Given the description of an element on the screen output the (x, y) to click on. 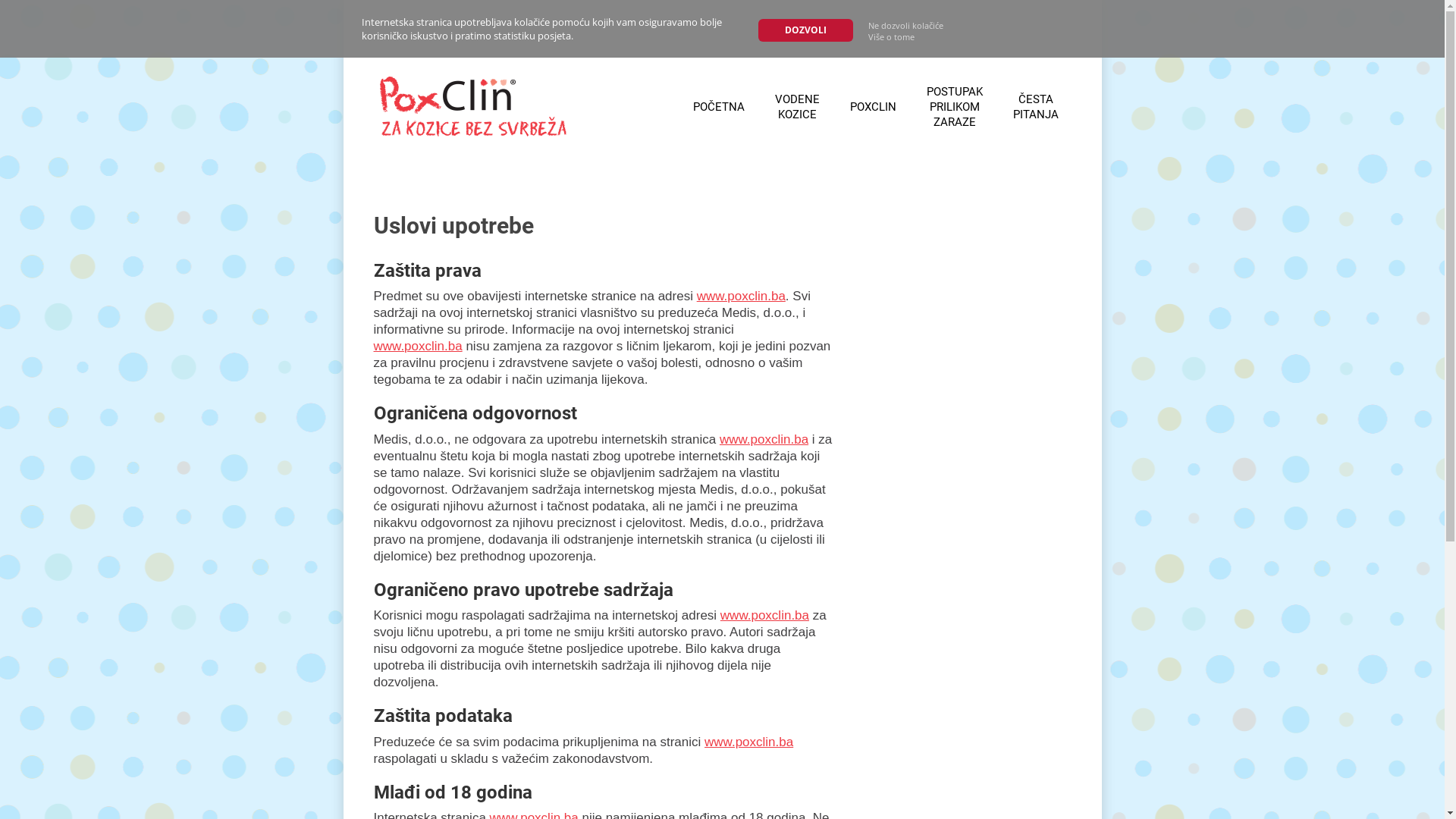
www.poxclin.ba Element type: text (740, 295)
www.poxclin.ba Element type: text (417, 345)
POSTUPAK
PRILIKOM
ZARAZE Element type: text (954, 106)
Poxclin Element type: text (467, 106)
VODENE
KOZICE Element type: text (797, 106)
www.poxclin.ba Element type: text (763, 439)
DOZVOLI Element type: text (805, 29)
POXCLIN Element type: text (872, 106)
www.poxclin.ba Element type: text (764, 615)
www.poxclin.ba Element type: text (748, 741)
